Given the description of an element on the screen output the (x, y) to click on. 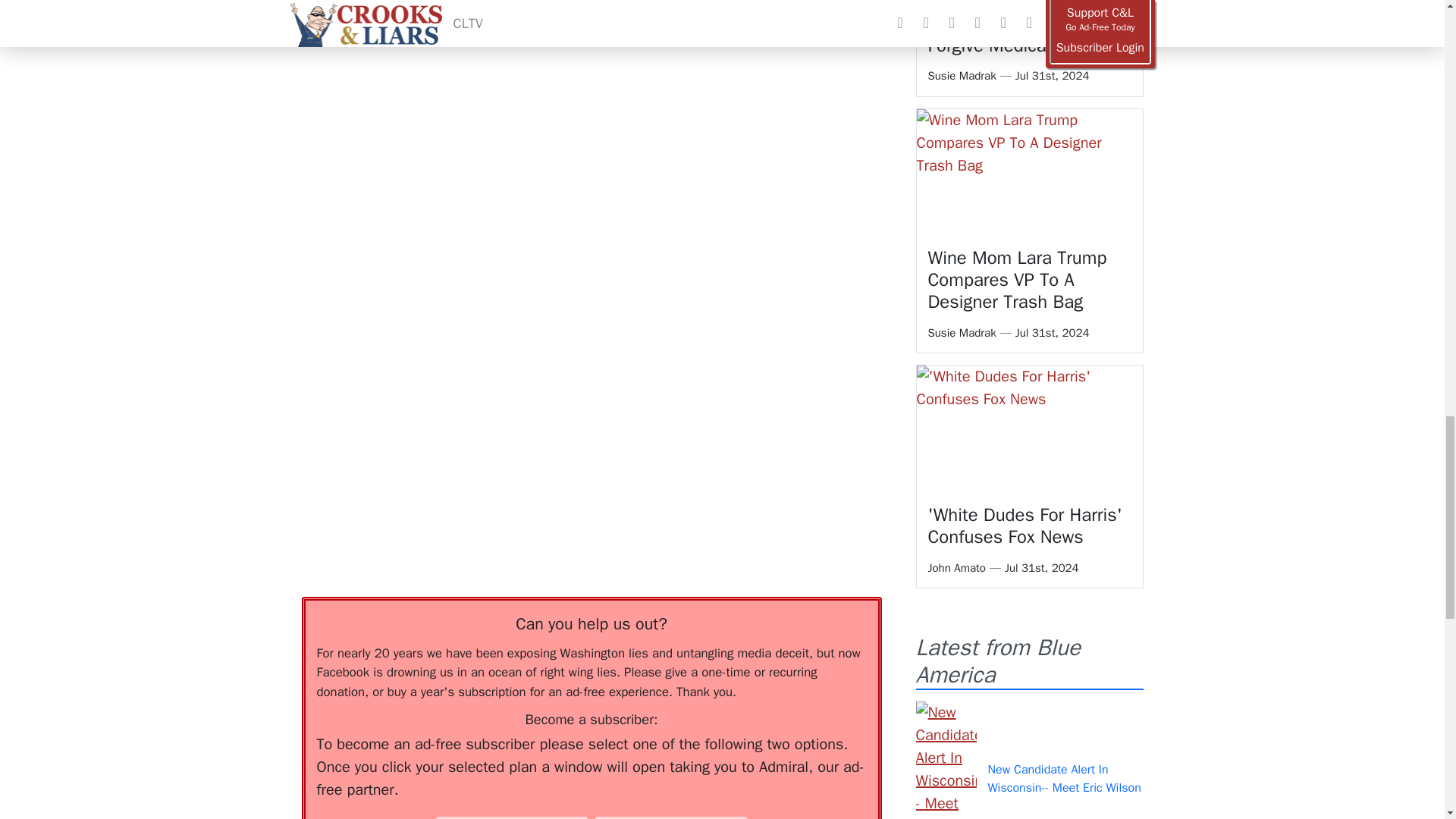
Insticator Content Engagement Unit (415, 286)
